Given the description of an element on the screen output the (x, y) to click on. 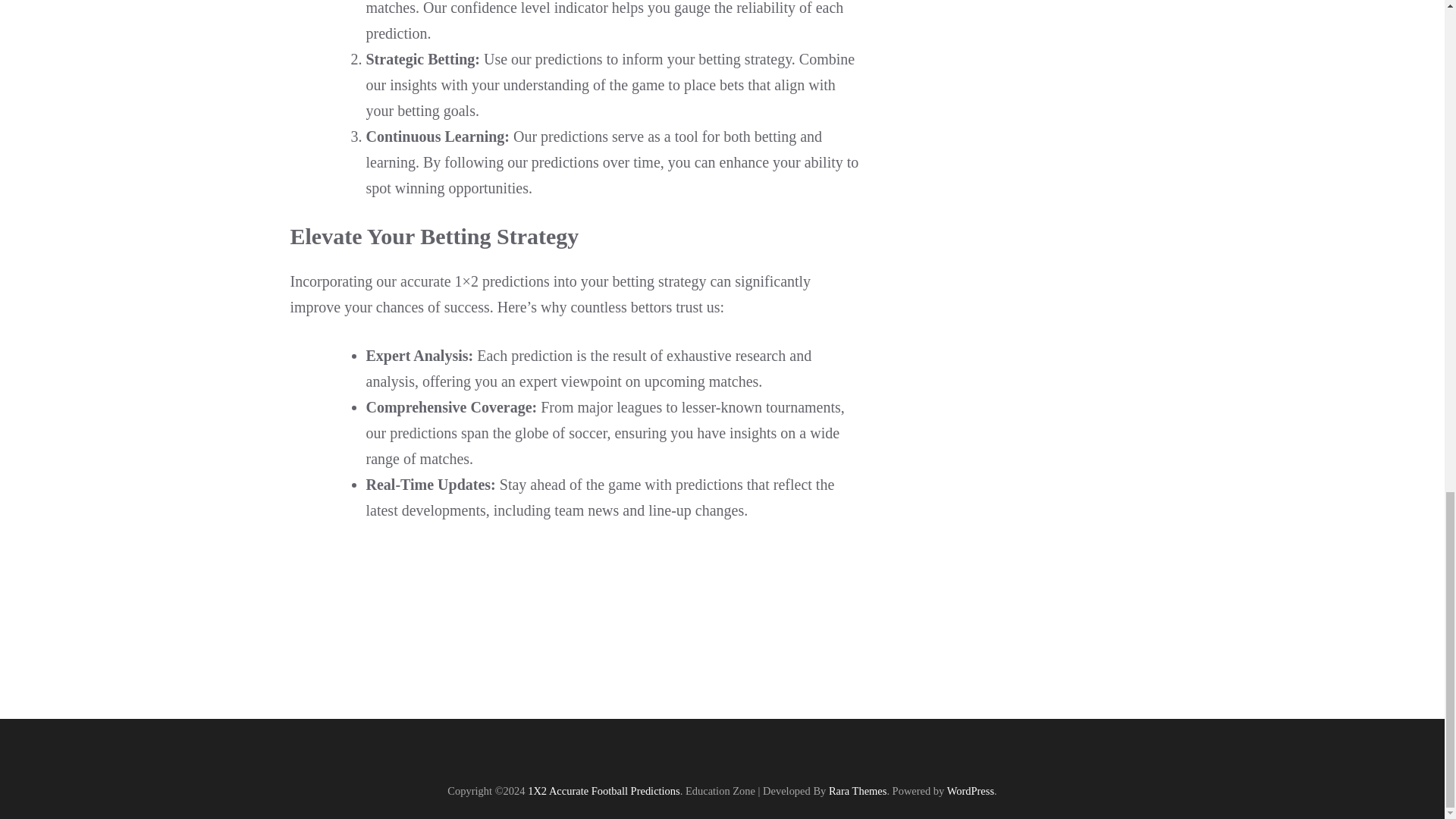
1X2 Accurate Football Predictions (603, 790)
WordPress (970, 790)
Rara Themes (857, 790)
